Given the description of an element on the screen output the (x, y) to click on. 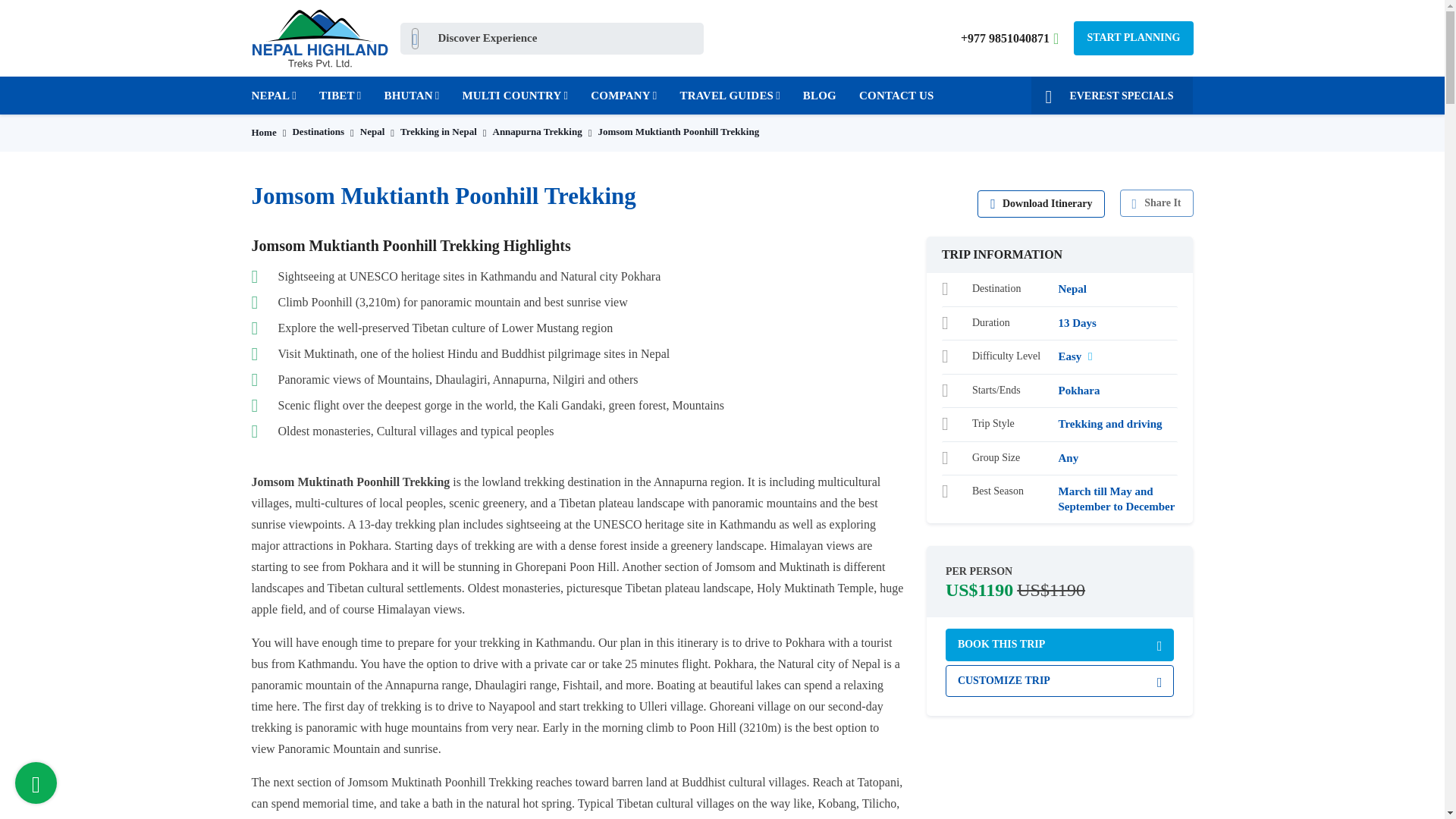
START PLANNING (1133, 38)
NEPAL (279, 95)
